Given the description of an element on the screen output the (x, y) to click on. 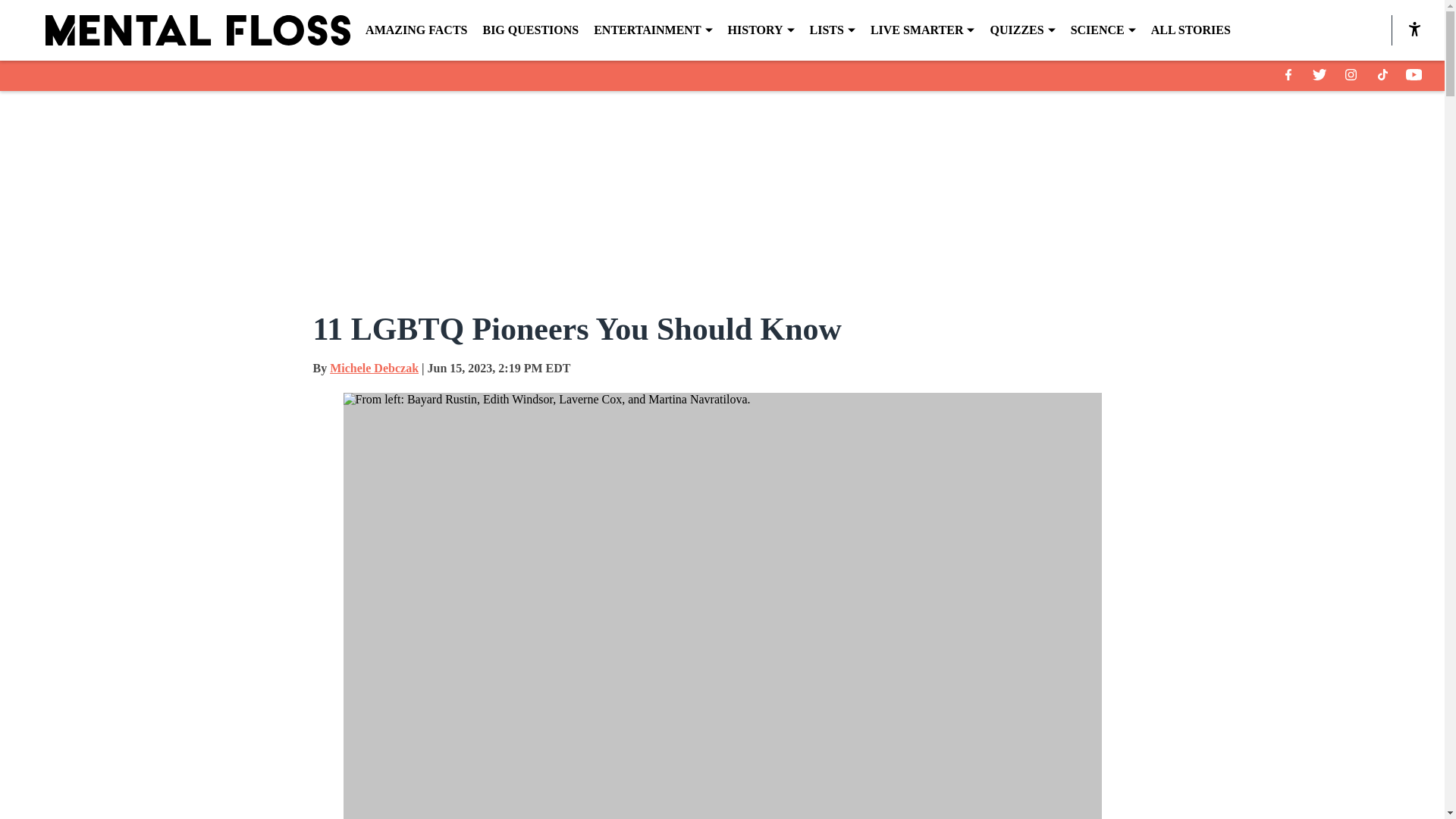
AMAZING FACTS (416, 30)
BIG QUESTIONS (529, 30)
ALL STORIES (1190, 30)
